Given the description of an element on the screen output the (x, y) to click on. 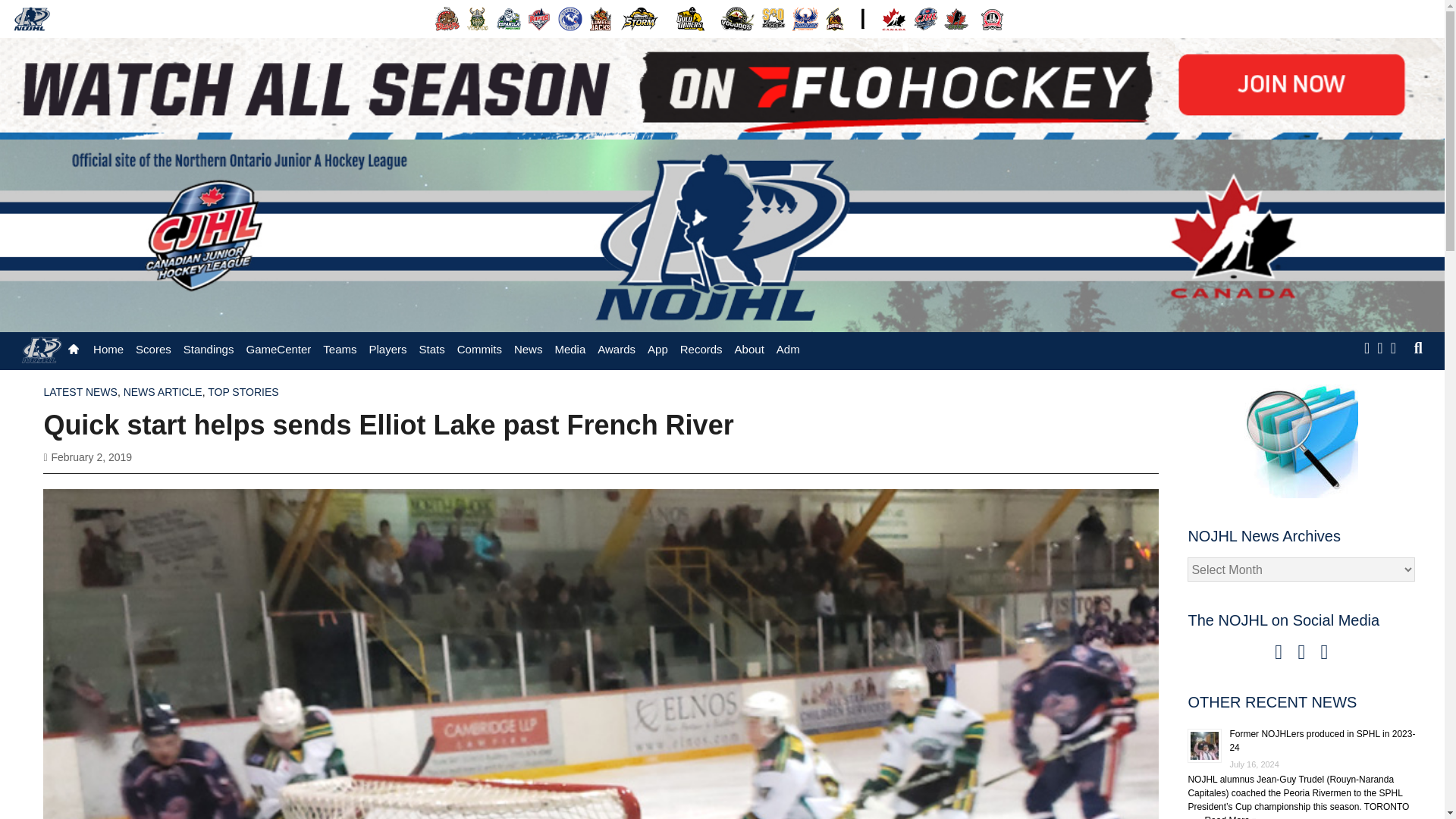
Soo Eagles (773, 18)
Greater Sudbury Cubs (569, 18)
Soo Thunderbirds (805, 18)
Kirkland Lake Gold Miners (690, 18)
Hearst Lumberjacks (600, 18)
Espanola Paper Kings (508, 18)
NOJHL (31, 18)
Powassan Voodoos (737, 18)
Iroquois Falls Storm (639, 18)
French River Rapids (539, 18)
Elliot Lake Vikings (478, 18)
Blind River Beavers (447, 18)
